Given the description of an element on the screen output the (x, y) to click on. 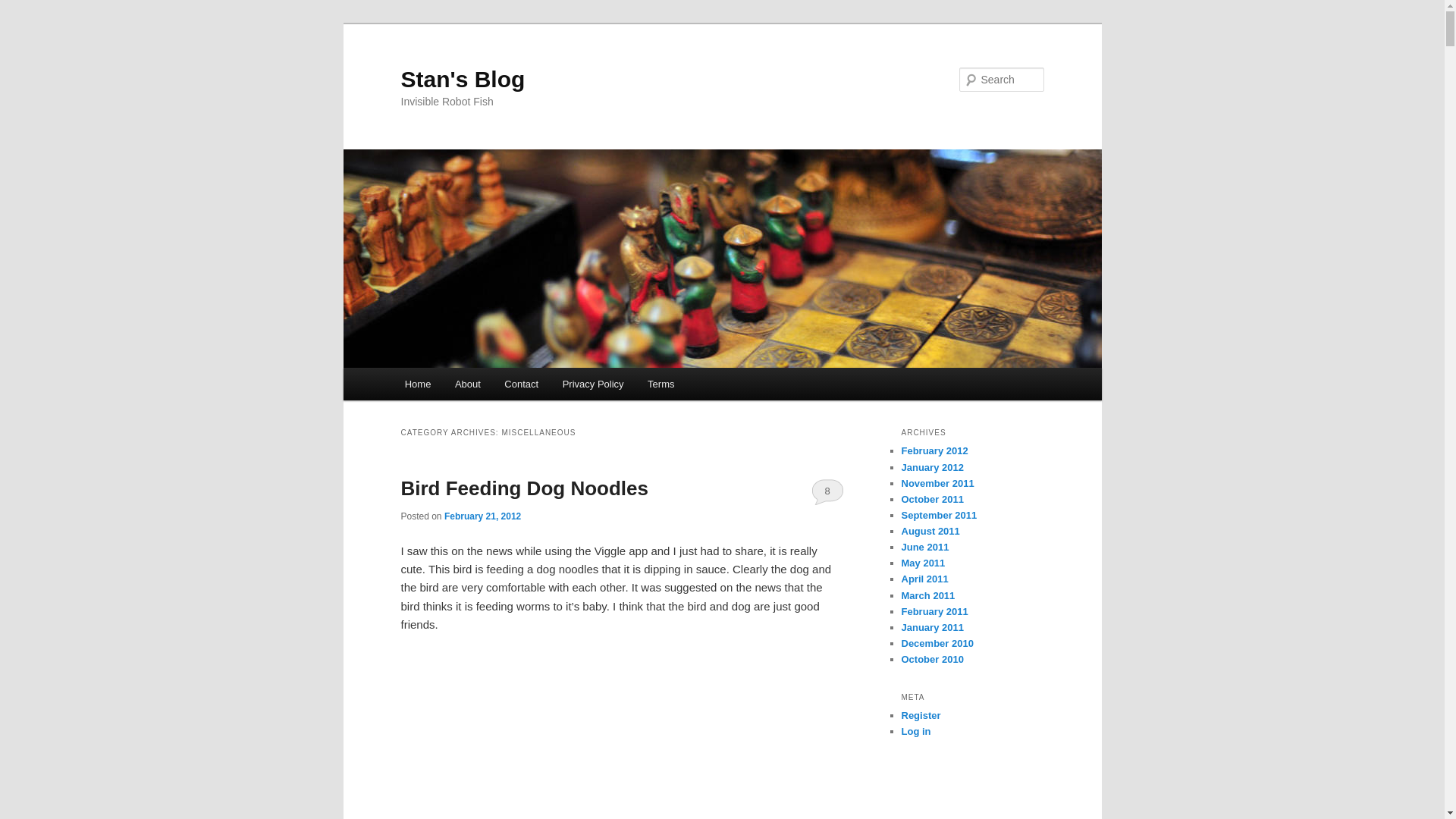
About (467, 383)
Terms (659, 383)
2:31 am (482, 516)
February 21, 2012 (482, 516)
Stan's Blog (462, 78)
Home (417, 383)
Contact (521, 383)
Privacy Policy (592, 383)
8 (827, 491)
